Given the description of an element on the screen output the (x, y) to click on. 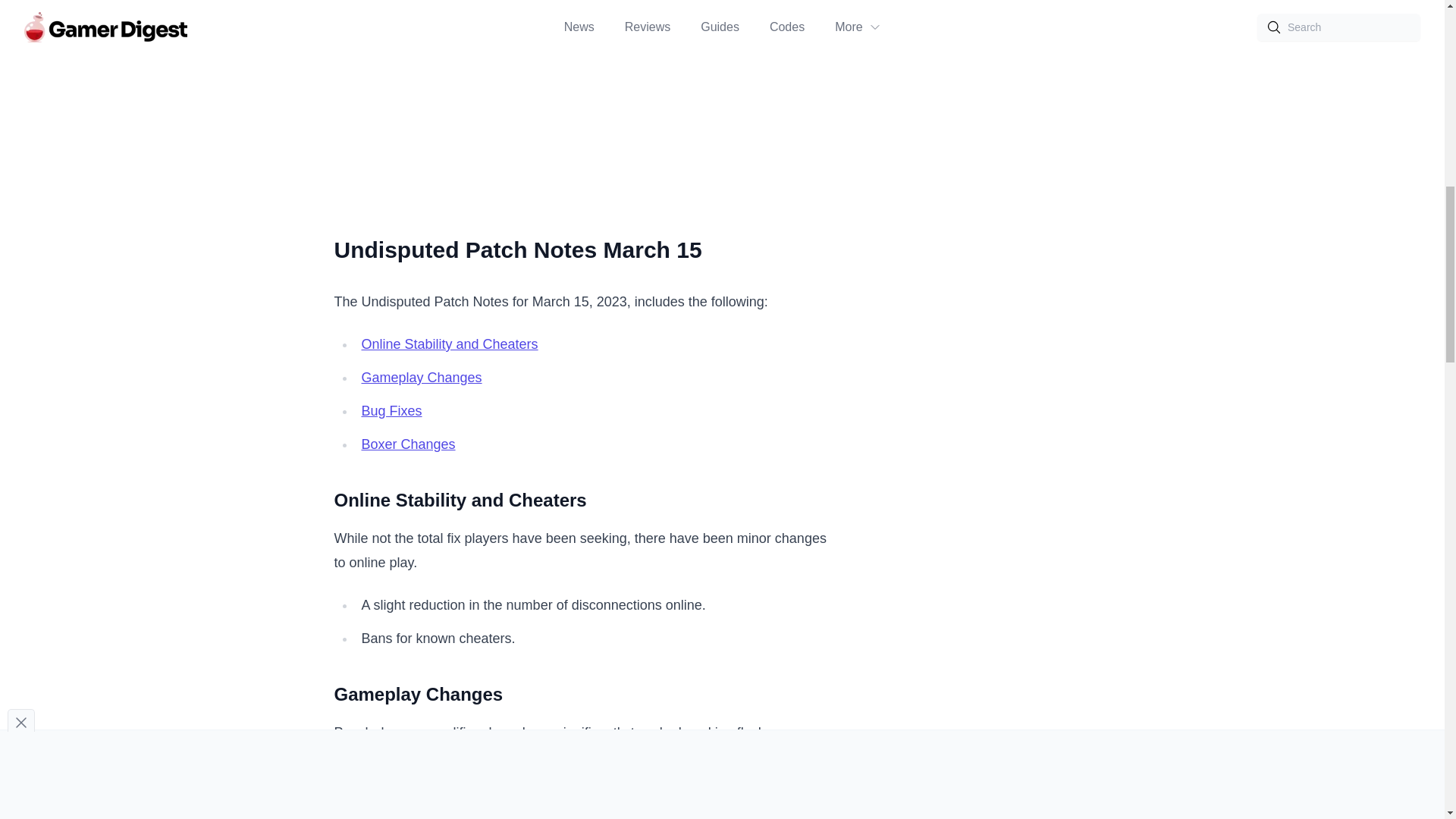
Bug Fixes (391, 410)
Advertisement (995, 106)
Gameplay Changes (421, 377)
Boxer Changes (407, 444)
Online Stability and Cheaters (449, 344)
